Given the description of an element on the screen output the (x, y) to click on. 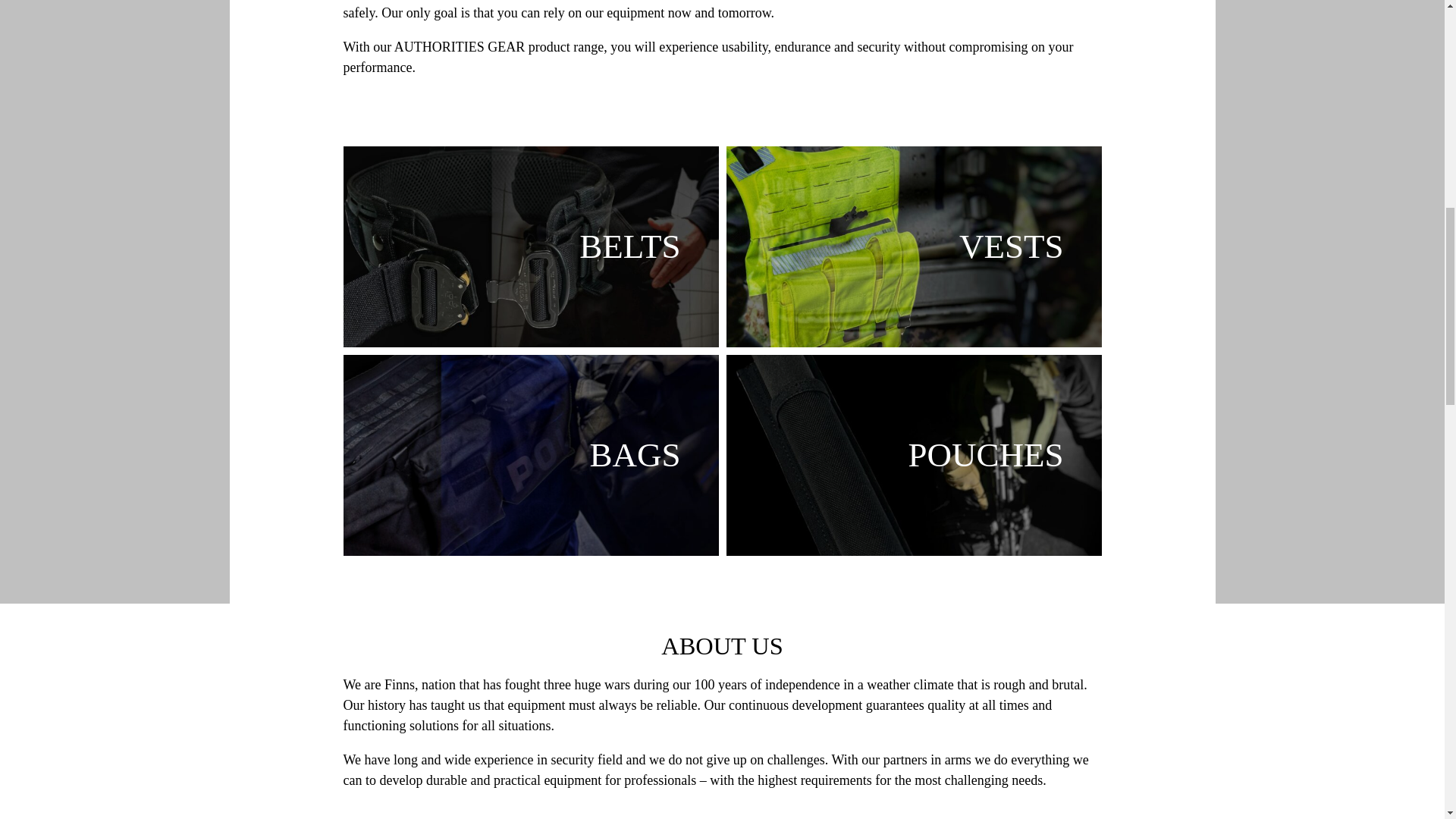
VESTS (914, 246)
BELTS (529, 246)
POUCHES (914, 455)
BAGS (529, 455)
